Given the description of an element on the screen output the (x, y) to click on. 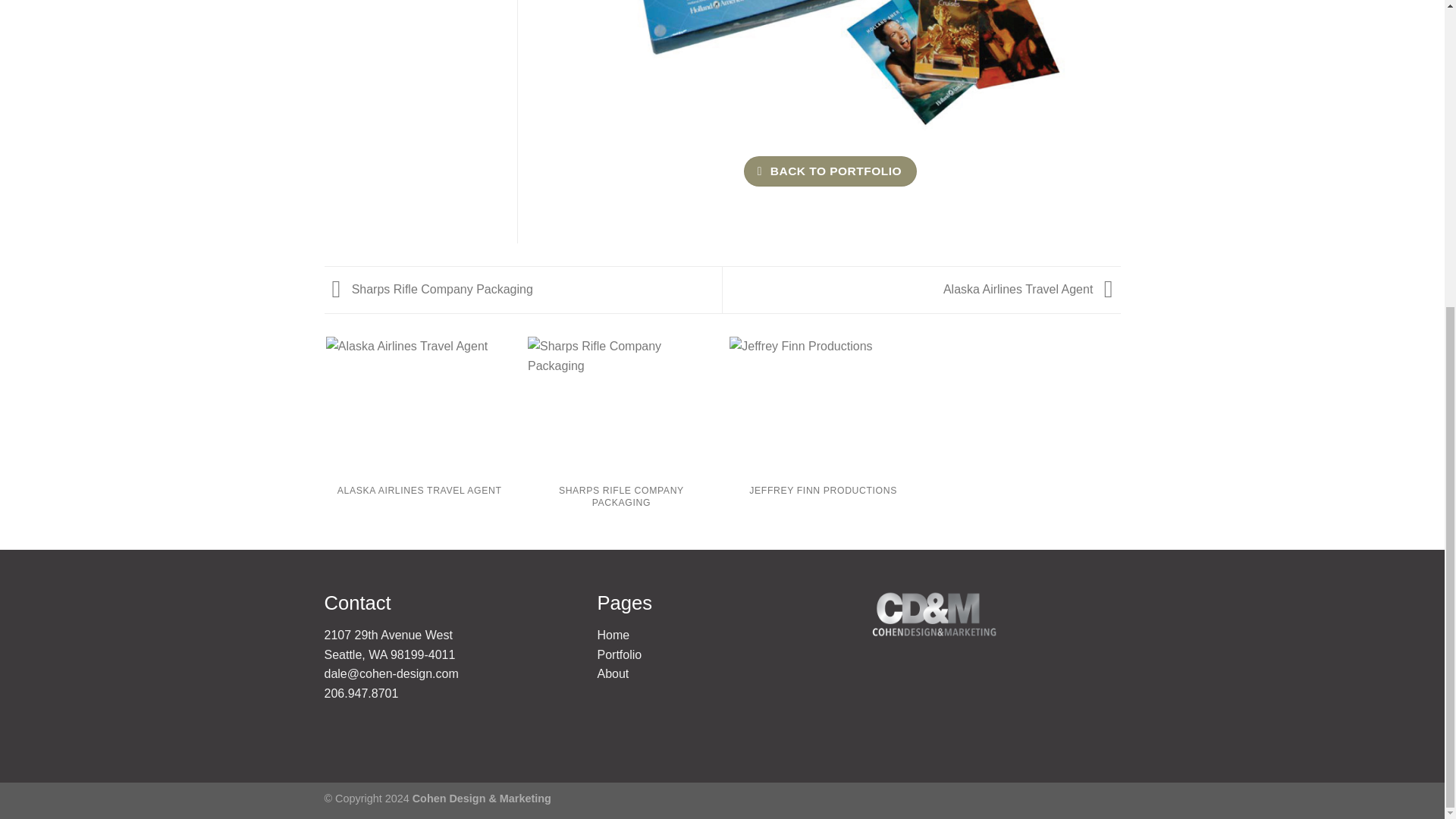
Sharps Rifle Company Packaging (428, 288)
Portfolio (619, 654)
About (612, 673)
BACK TO PORTFOLIO (829, 170)
Home (612, 634)
Sharps Rifle Company Packaging (428, 288)
Alaska Airlines Travel Agent (1032, 288)
Alaska Airlines Travel Agent (1032, 288)
SHARPS RIFLE COMPANY PACKAGING (620, 436)
JEFFREY FINN PRODUCTIONS (823, 430)
